Given the description of an element on the screen output the (x, y) to click on. 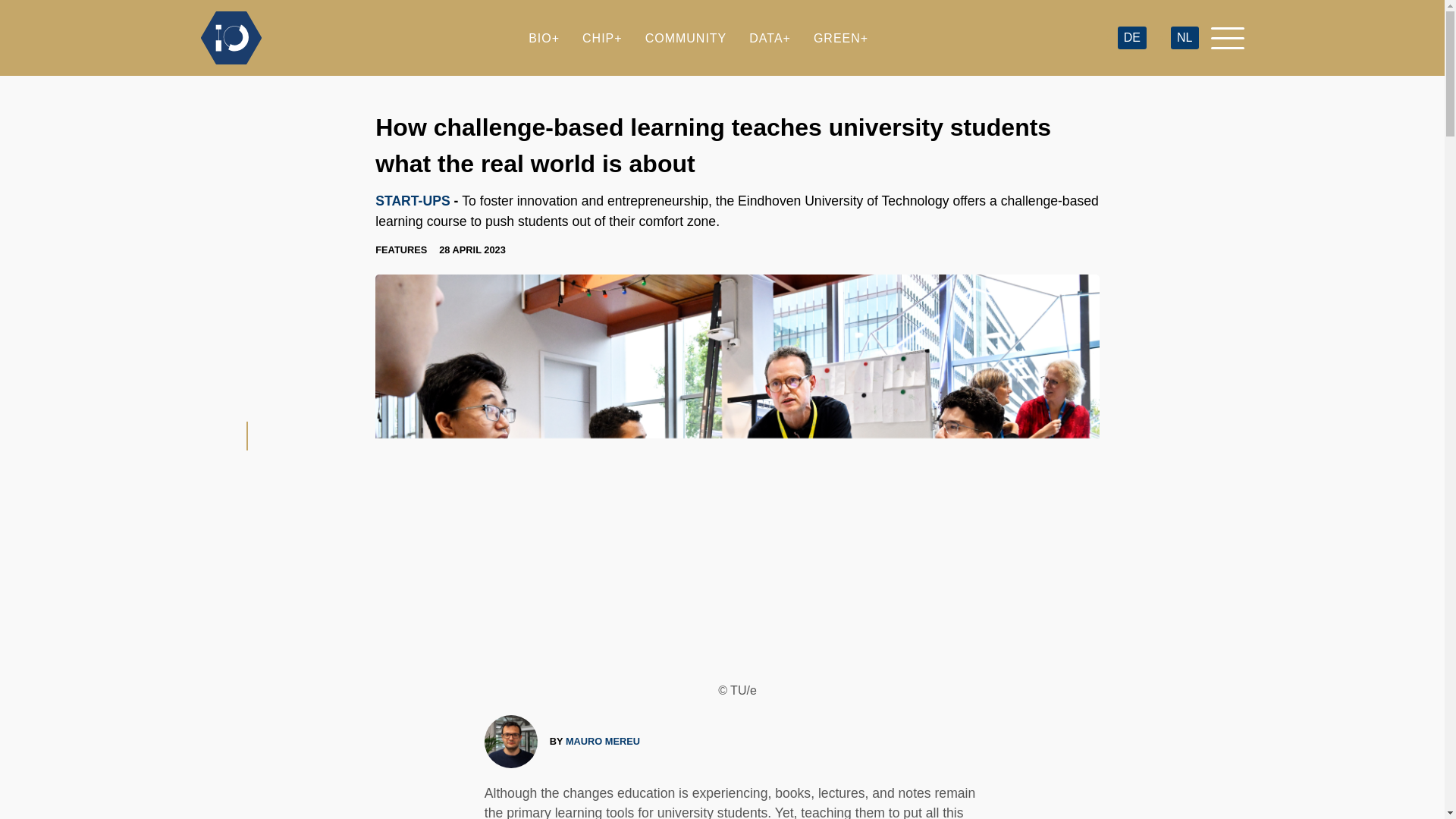
DE (1132, 37)
MAURO MEREU (603, 740)
START-UPS (412, 200)
NL (1184, 37)
COMMUNITY (685, 38)
